Given the description of an element on the screen output the (x, y) to click on. 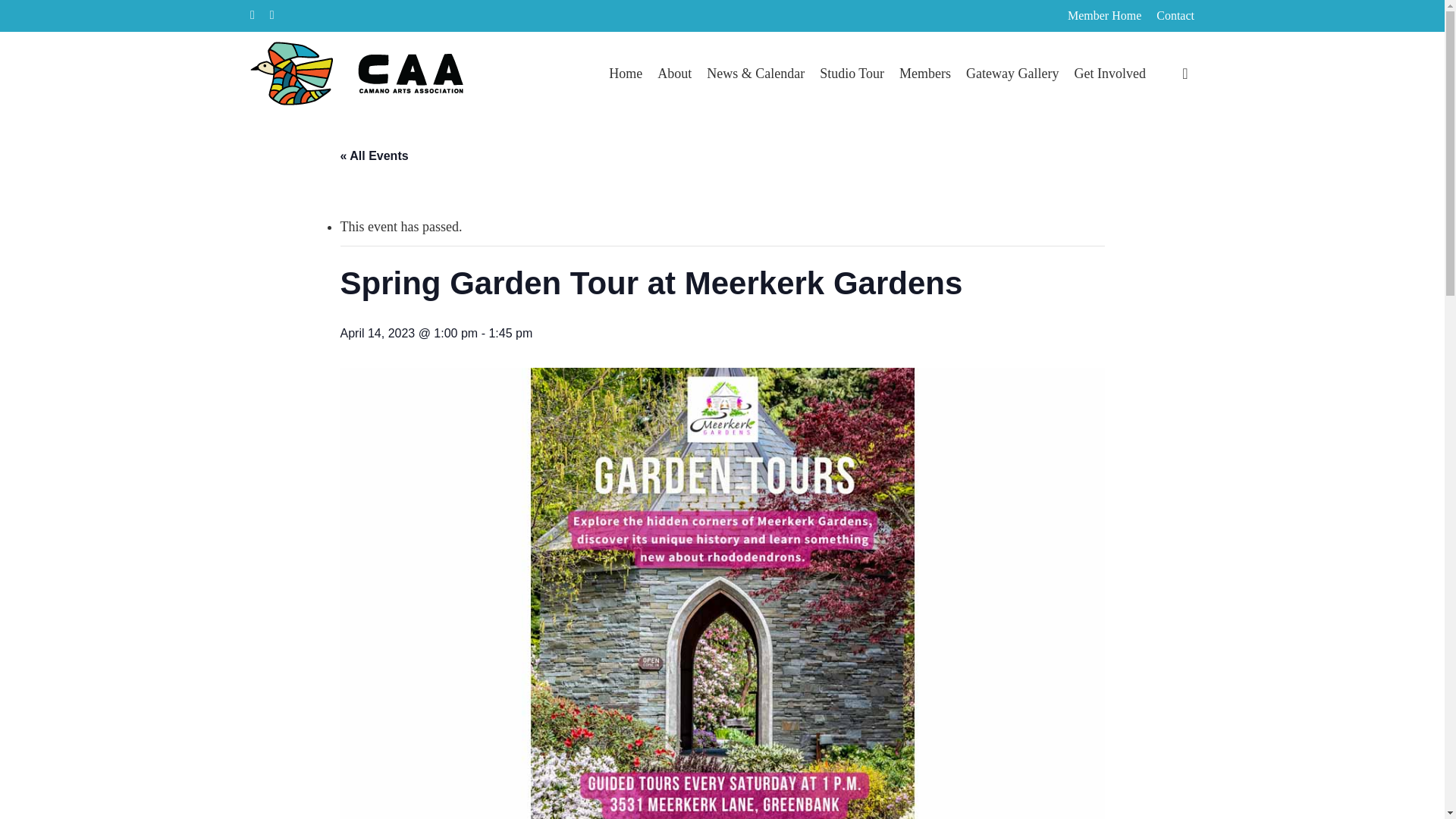
search (1184, 73)
Member Home (1104, 16)
Gateway Gallery (1012, 73)
About (674, 73)
Members (924, 73)
Get Involved (1109, 73)
Home (625, 73)
Studio Tour (851, 73)
Contact (1174, 16)
